Given the description of an element on the screen output the (x, y) to click on. 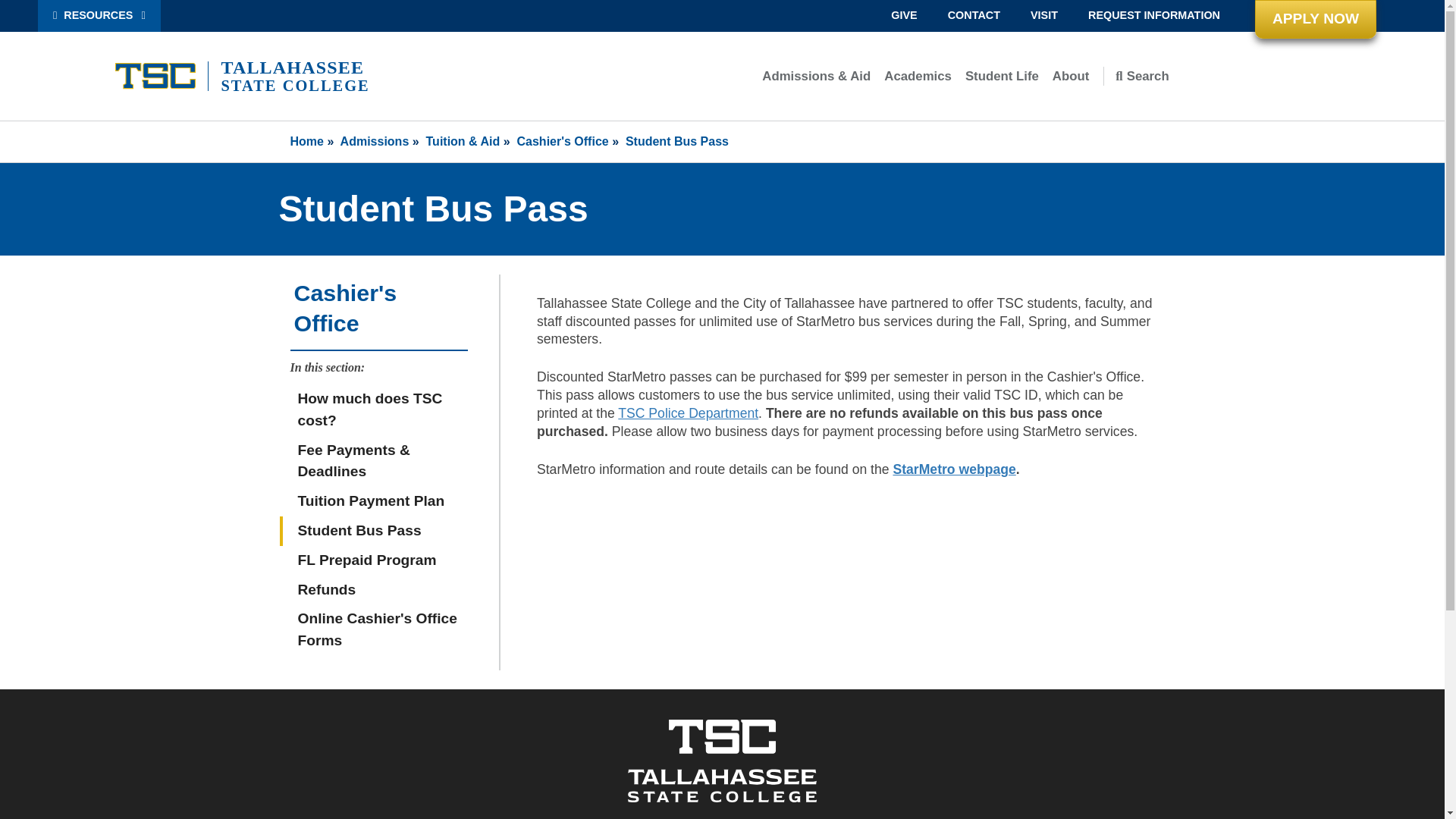
GIVE (903, 15)
REQUEST INFORMATION (1153, 15)
APPLY NOW (1315, 19)
VISIT (1043, 15)
RESOURCES (98, 15)
CONTACT (973, 15)
